Given the description of an element on the screen output the (x, y) to click on. 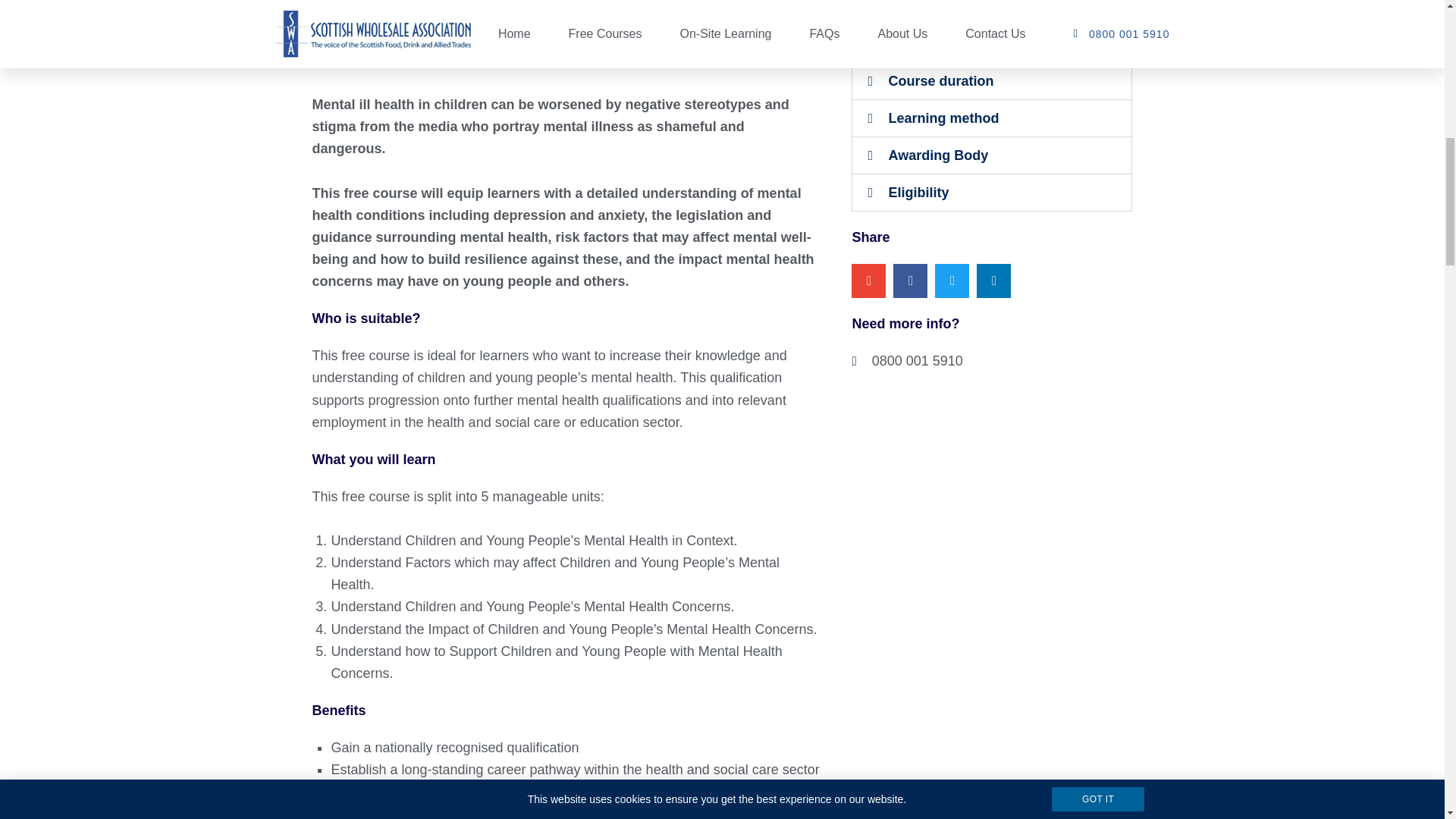
Course duration (940, 80)
Learning method (943, 118)
Awarding Body (938, 155)
Eligibility (918, 192)
